Given the description of an element on the screen output the (x, y) to click on. 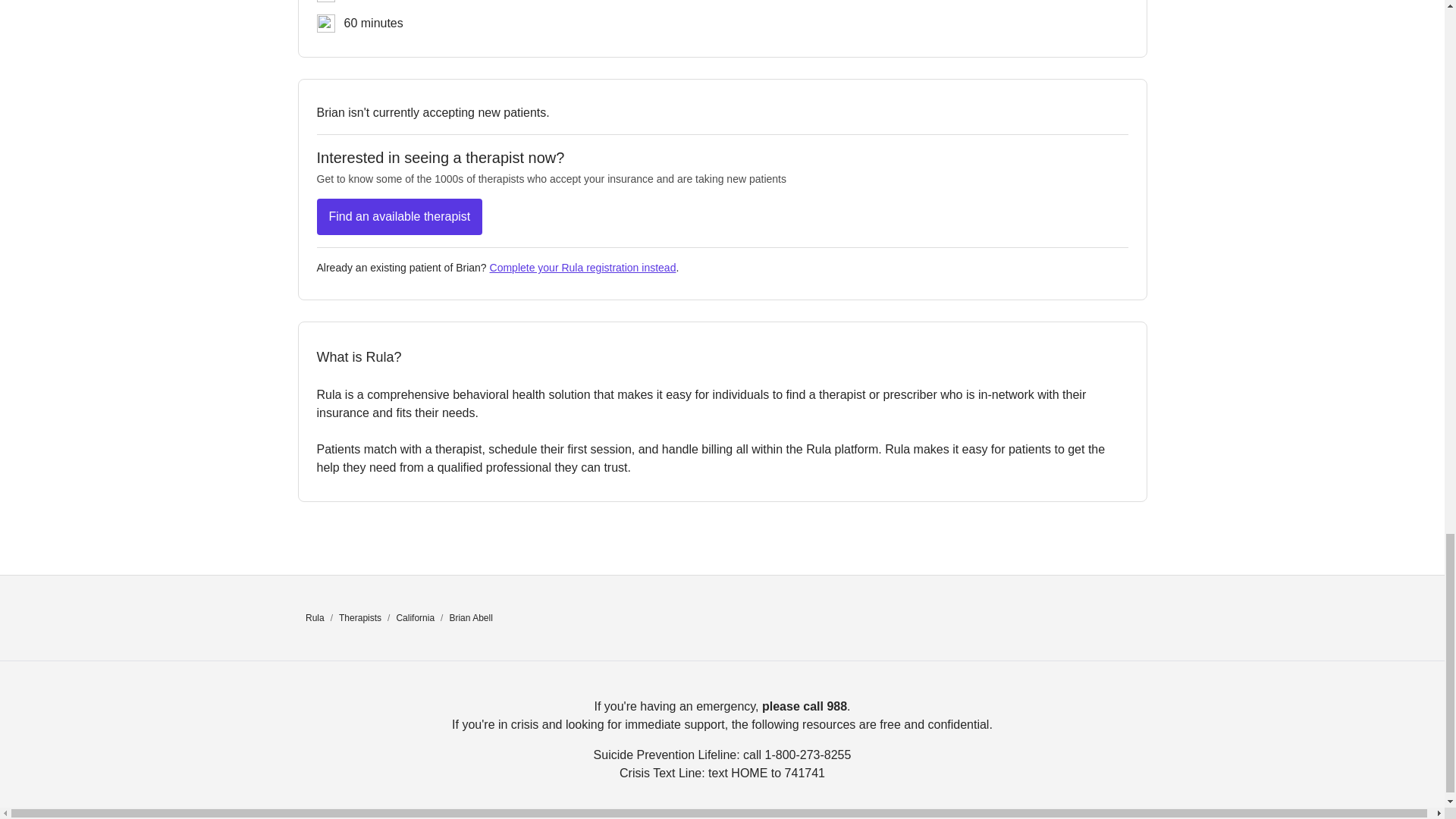
Rula (314, 617)
Complete your Rula registration instead (583, 267)
Brian Abell (470, 617)
California (414, 617)
Find an available therapist (400, 217)
Therapists (360, 617)
